Given the description of an element on the screen output the (x, y) to click on. 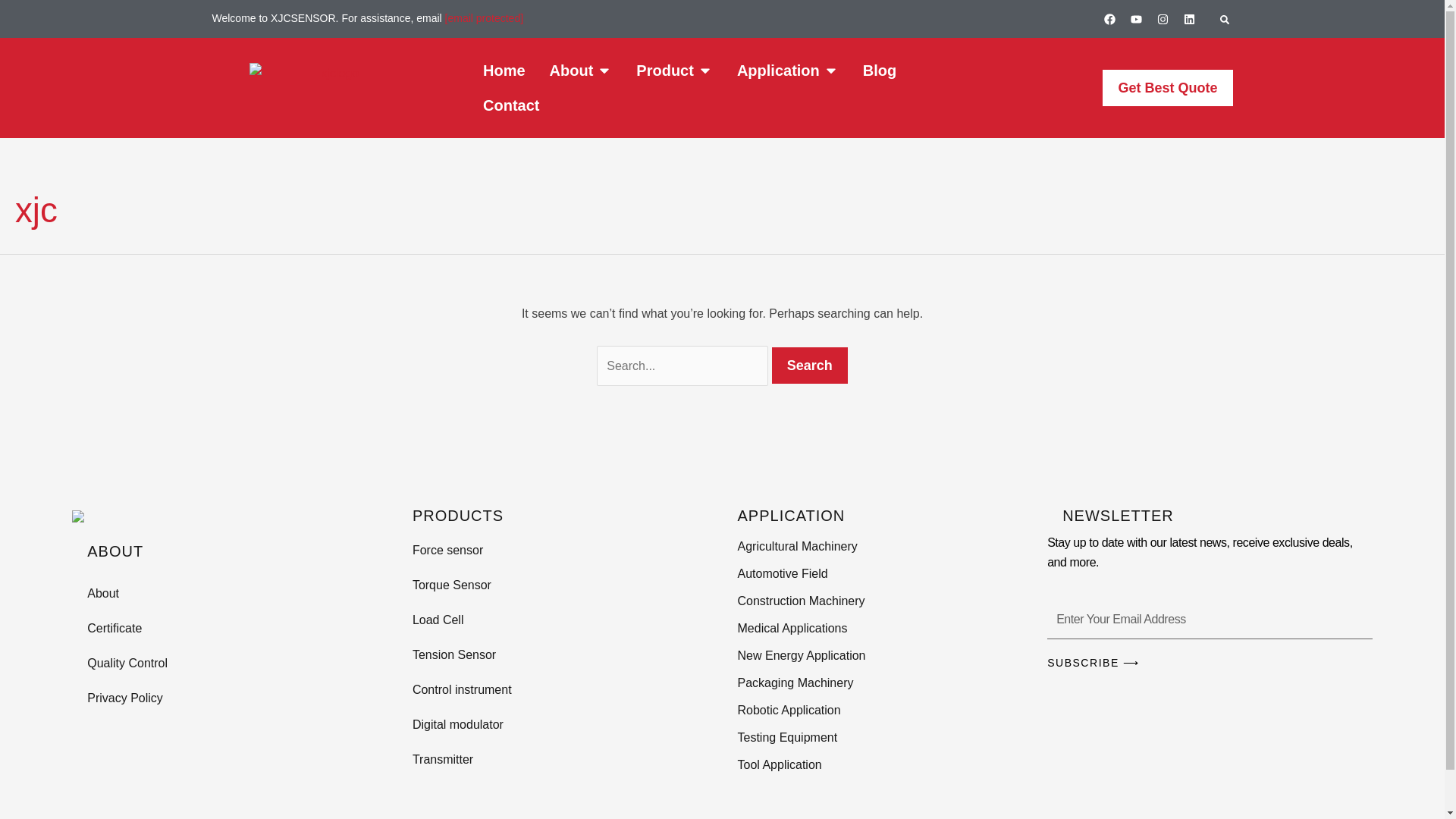
Open Product (705, 69)
Linkedin (1189, 18)
Instagram (1162, 18)
Youtube (1136, 18)
Search (809, 365)
Search (809, 365)
Open About (603, 69)
Home (504, 69)
Facebook (1109, 18)
Open Application (831, 69)
